Given the description of an element on the screen output the (x, y) to click on. 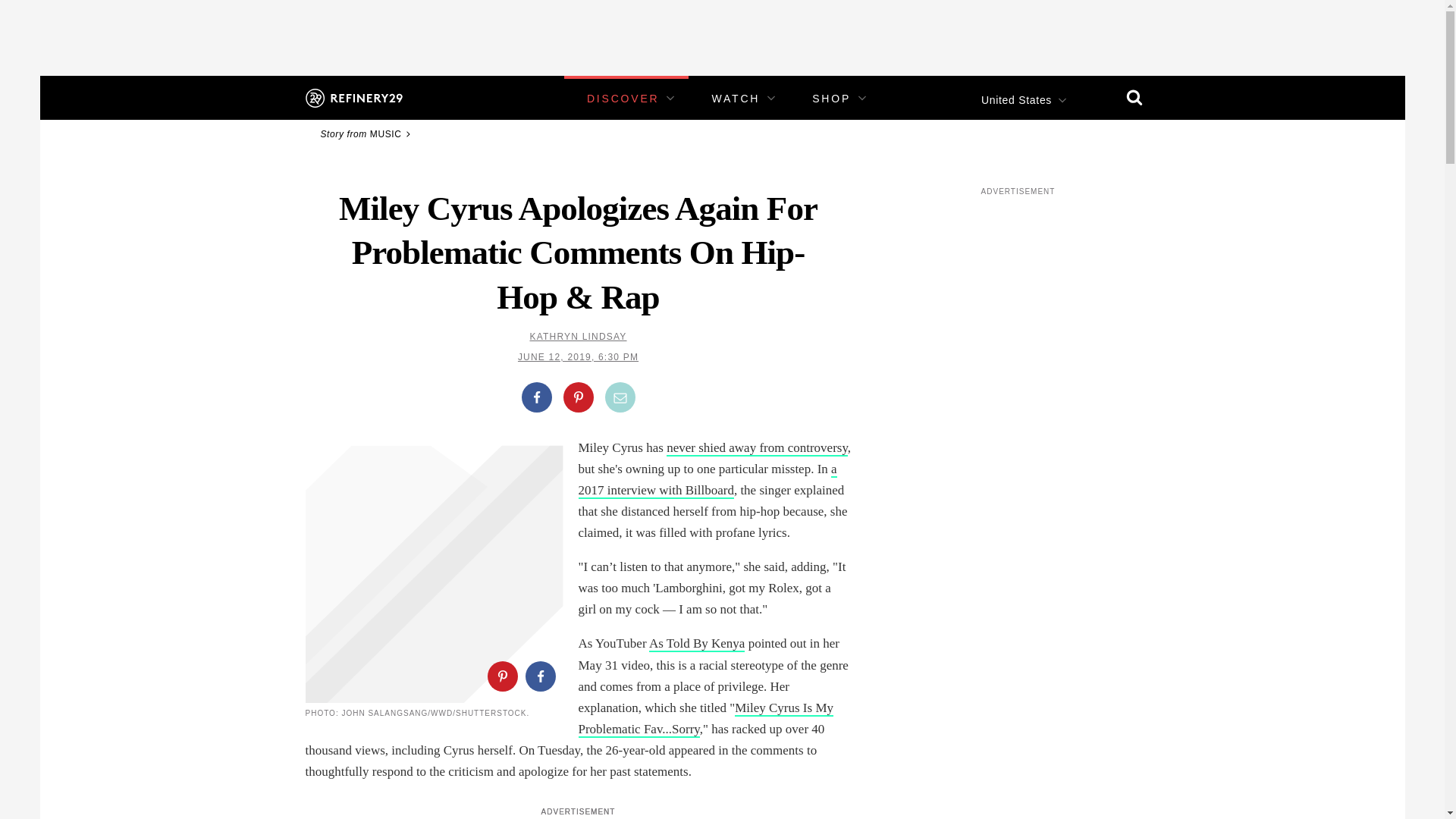
JUNE 12, 2019, 6:30 PM (578, 357)
KATHRYN LINDSAY (577, 336)
a 2017 interview with Billboard (706, 479)
Miley Cyrus Is My Problematic Fav...Sorry (705, 719)
WATCH (735, 98)
DISCOVER (622, 98)
Share on Pinterest (501, 675)
As Told By Kenya (696, 643)
SHOP (831, 98)
Share on Pinterest (577, 397)
never shied away from controversy (756, 448)
Story from MUSIC (367, 133)
Refinery29 (352, 97)
Share by Email (619, 397)
